Given the description of an element on the screen output the (x, y) to click on. 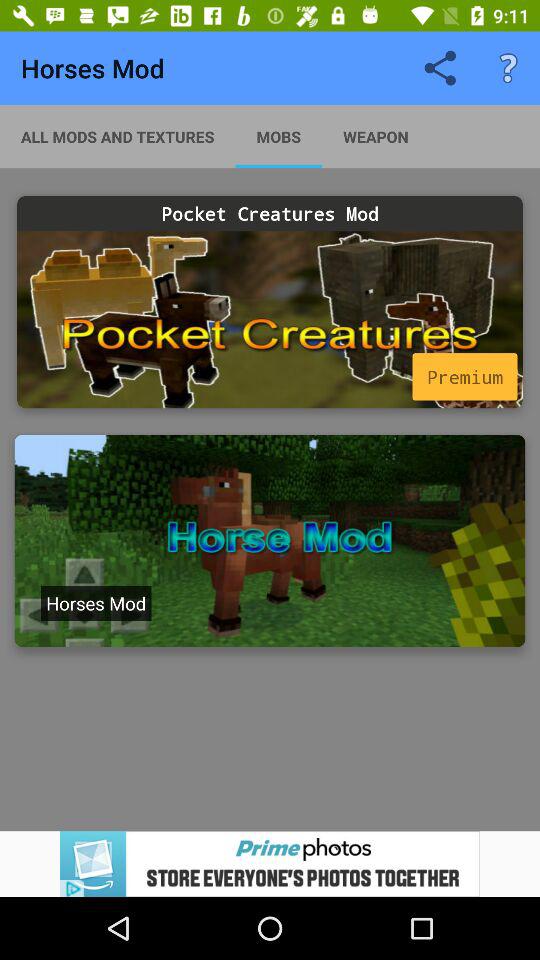
advertisement pocket creatures mod (269, 319)
